Given the description of an element on the screen output the (x, y) to click on. 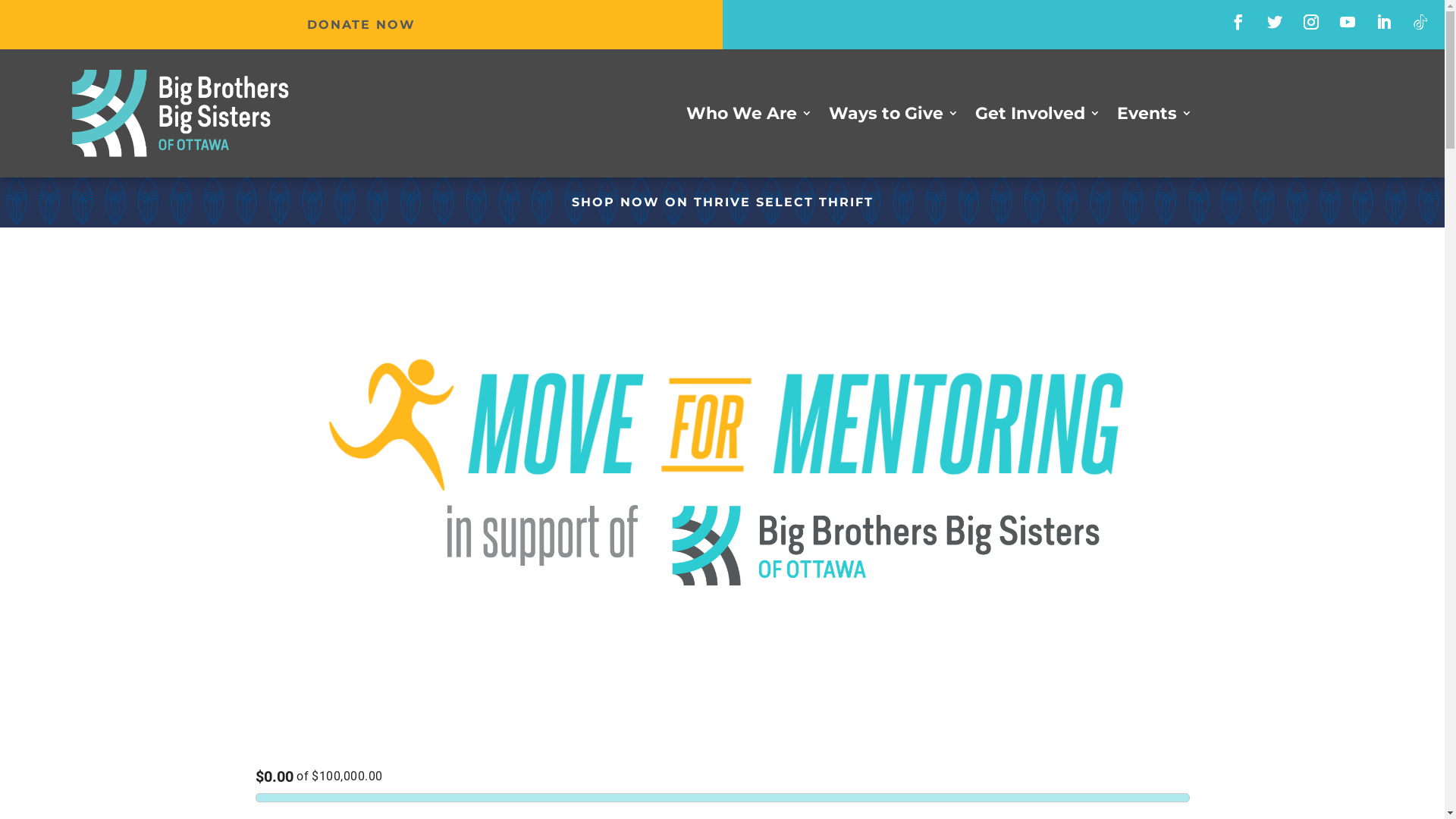
Get Involved Element type: text (1037, 116)
Ways to Give Element type: text (893, 116)
Follow on TikTok Element type: hover (1420, 21)
M4M Colour logo white background Element type: hover (721, 457)
Follow on Instagram Element type: hover (1310, 21)
Follow on Youtube Element type: hover (1347, 21)
Follow on LinkedIn Element type: hover (1383, 21)
Follow on Facebook Element type: hover (1238, 21)
Who We Are Element type: text (749, 116)
Events Element type: text (1154, 116)
DONATE NOW Element type: text (361, 24)
SHOP NOW ON THRIVE SELECT THRIFT Element type: text (722, 201)
Ottawa_horizontal_onDarkGray_CMYK_EN-[Converted] Element type: hover (180, 112)
Follow on X Element type: hover (1274, 21)
